Given the description of an element on the screen output the (x, y) to click on. 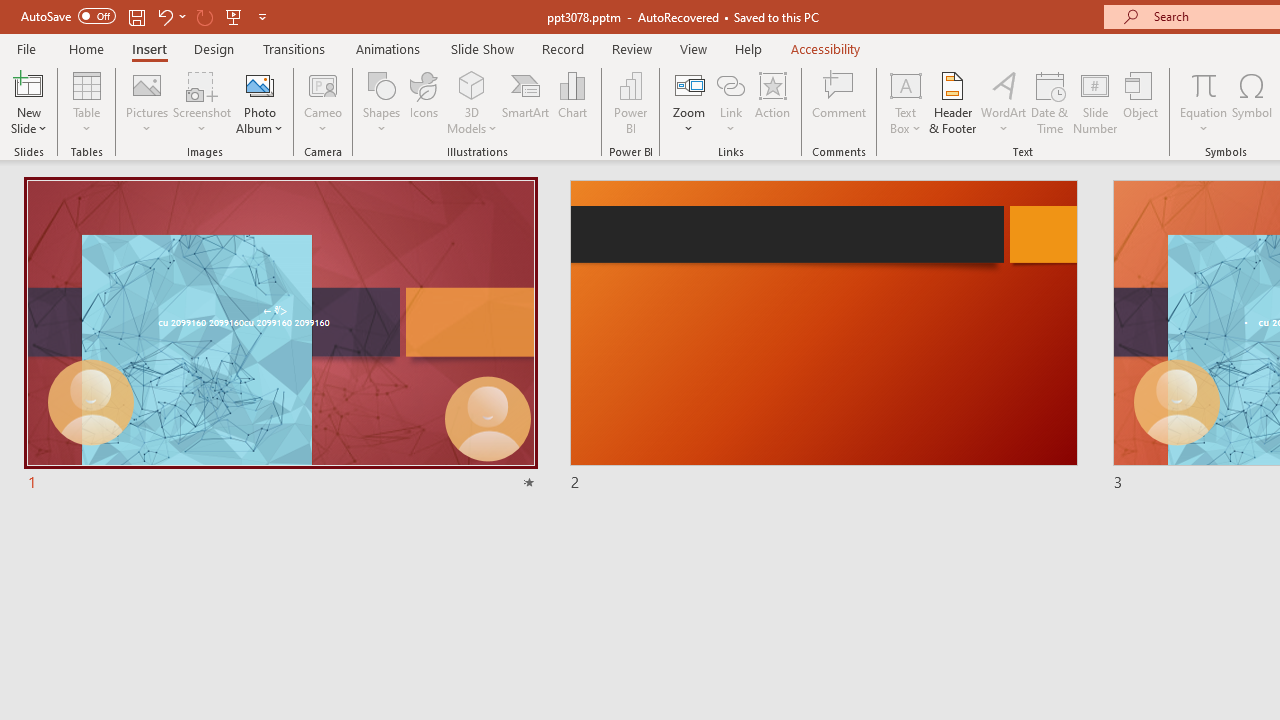
Header & Footer... (952, 102)
Screenshot (202, 102)
Draw Horizontal Text Box (905, 84)
Table (86, 102)
New Photo Album... (259, 84)
